Given the description of an element on the screen output the (x, y) to click on. 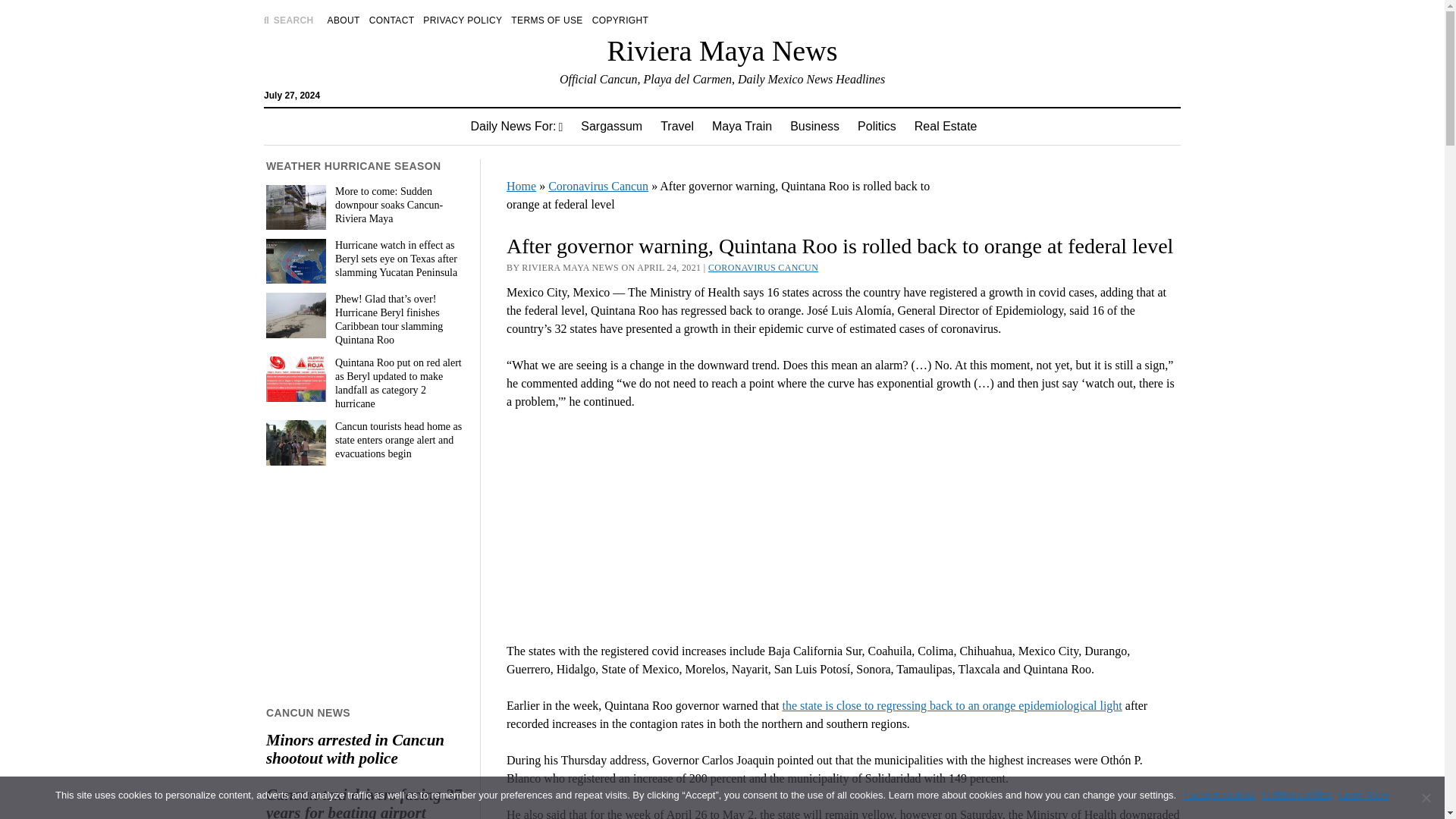
Maya Train (741, 126)
ABOUT (343, 20)
Sargassum (611, 126)
Daily News For: (516, 126)
CONTACT (391, 20)
PRIVACY POLICY (462, 20)
Business (814, 126)
Riviera Maya News (722, 50)
TERMS OF USE (546, 20)
COPYRIGHT (620, 20)
View all posts in Coronavirus Cancun (762, 267)
SEARCH (288, 20)
I refuse cookies (1425, 797)
Travel (676, 126)
Search (945, 129)
